Given the description of an element on the screen output the (x, y) to click on. 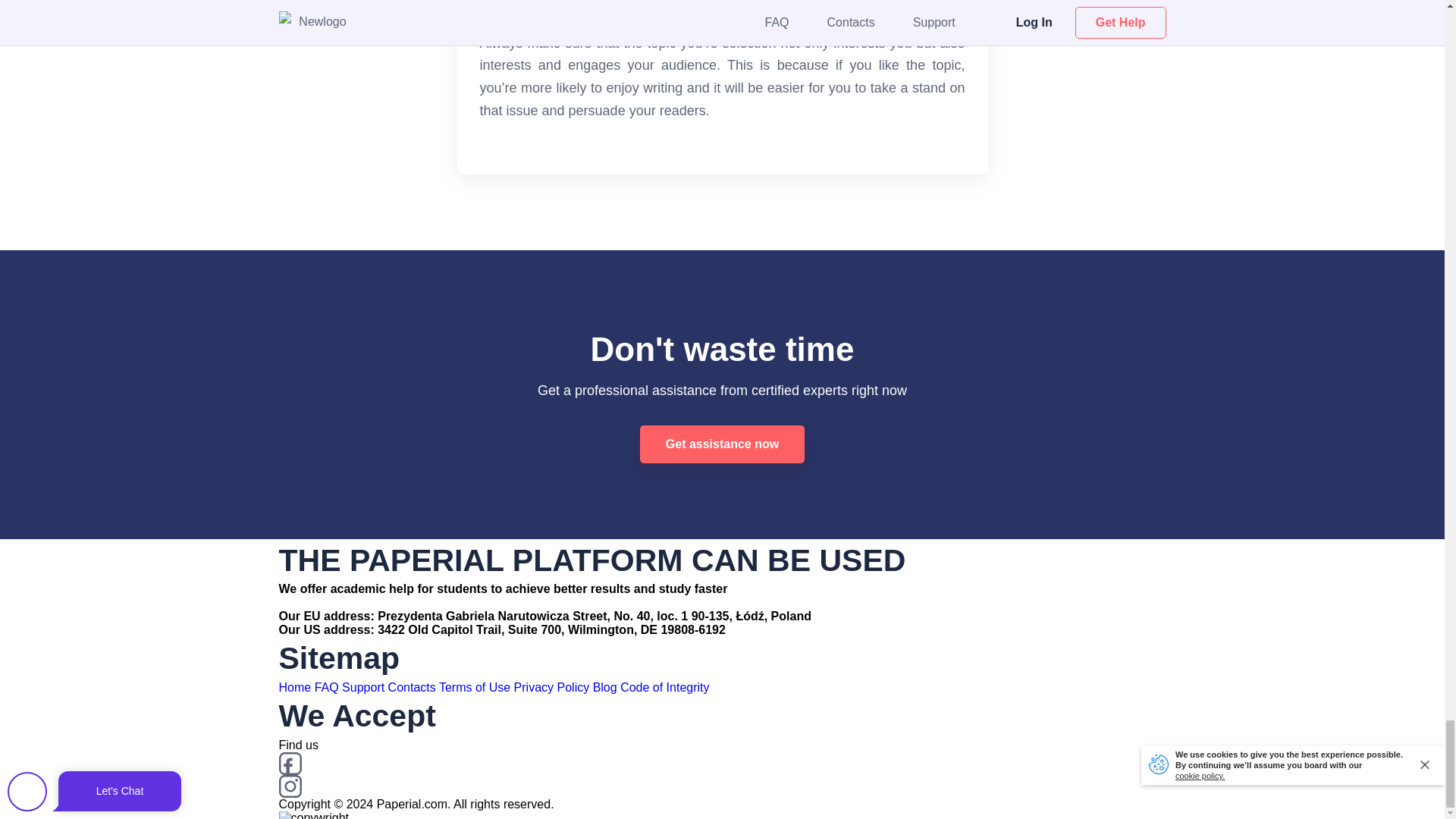
Terms of Use (475, 686)
Support (363, 686)
Get assistance now (722, 444)
Contacts (411, 686)
Privacy Policy (551, 686)
Blog (604, 686)
Code of Integrity (664, 686)
Home (295, 686)
FAQ (326, 686)
